Given the description of an element on the screen output the (x, y) to click on. 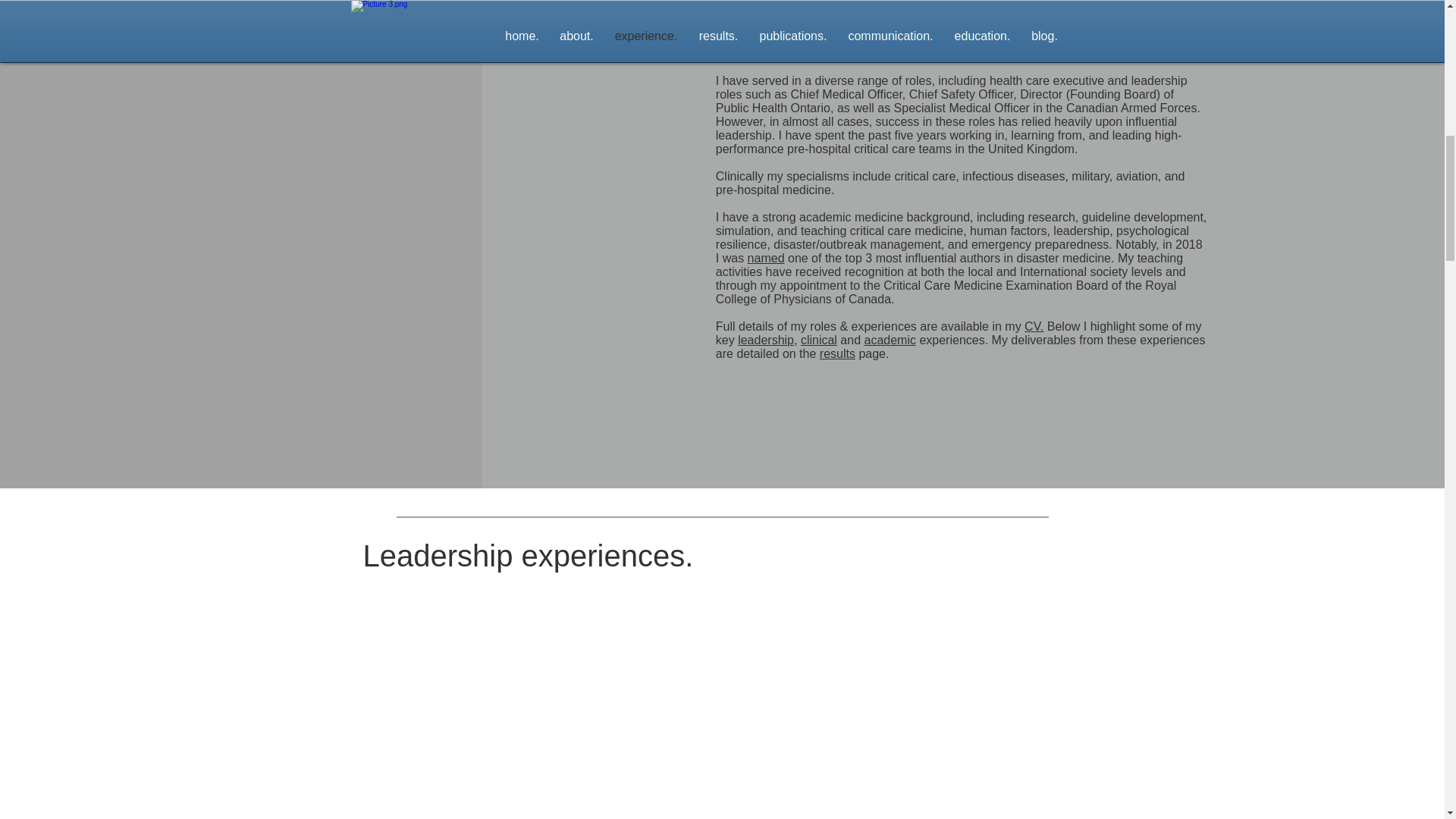
results (837, 353)
named (766, 257)
academic (889, 339)
CV. (1034, 326)
clinical (818, 339)
leadership (765, 339)
